Given the description of an element on the screen output the (x, y) to click on. 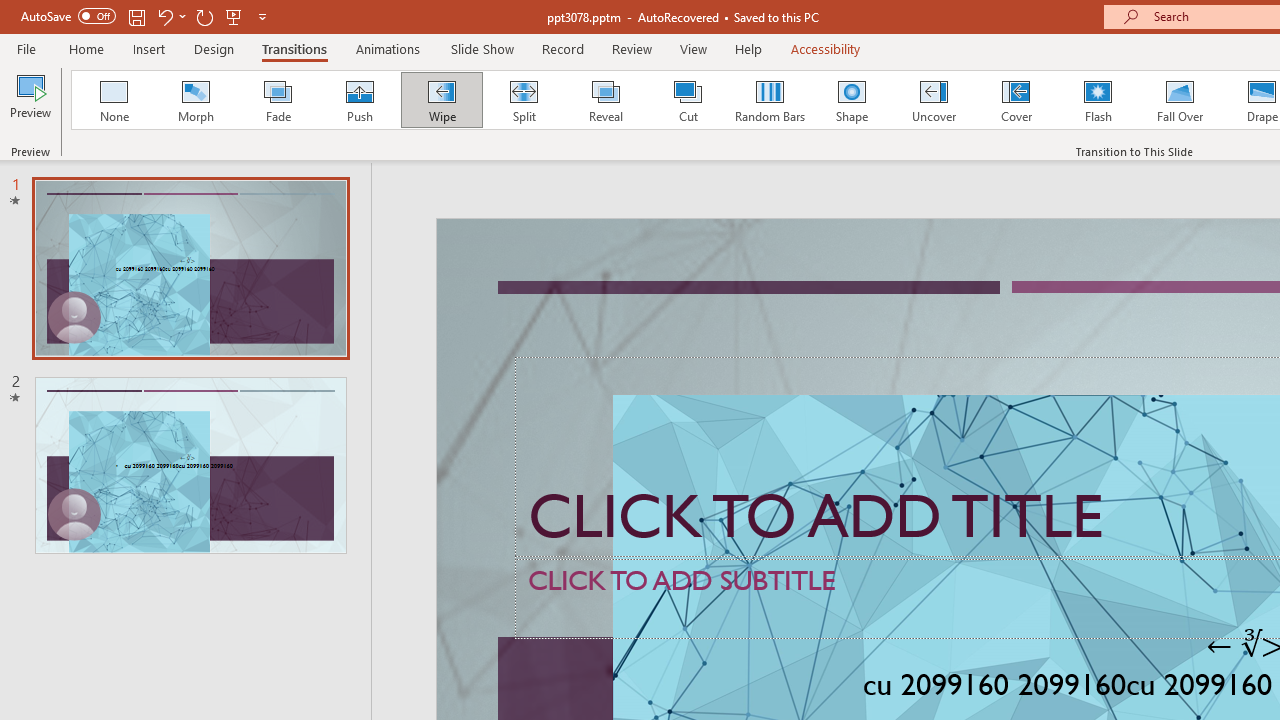
Reveal (605, 100)
Fall Over (1180, 100)
Cover (1016, 100)
